Given the description of an element on the screen output the (x, y) to click on. 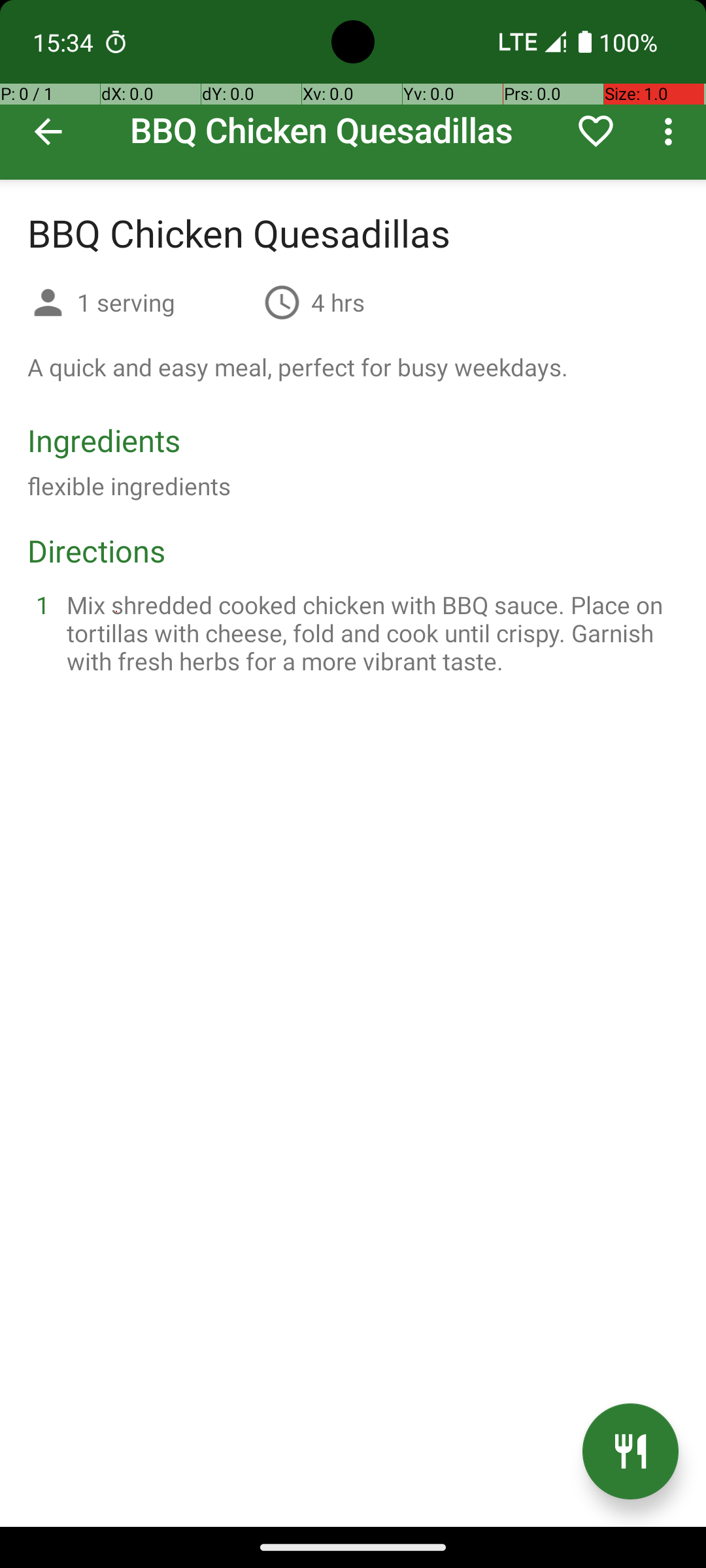
Mix shredded cooked chicken with BBQ sauce. Place on tortillas with cheese, fold and cook until crispy. Garnish with fresh herbs for a more vibrant taste. Element type: android.widget.TextView (368, 632)
